Given the description of an element on the screen output the (x, y) to click on. 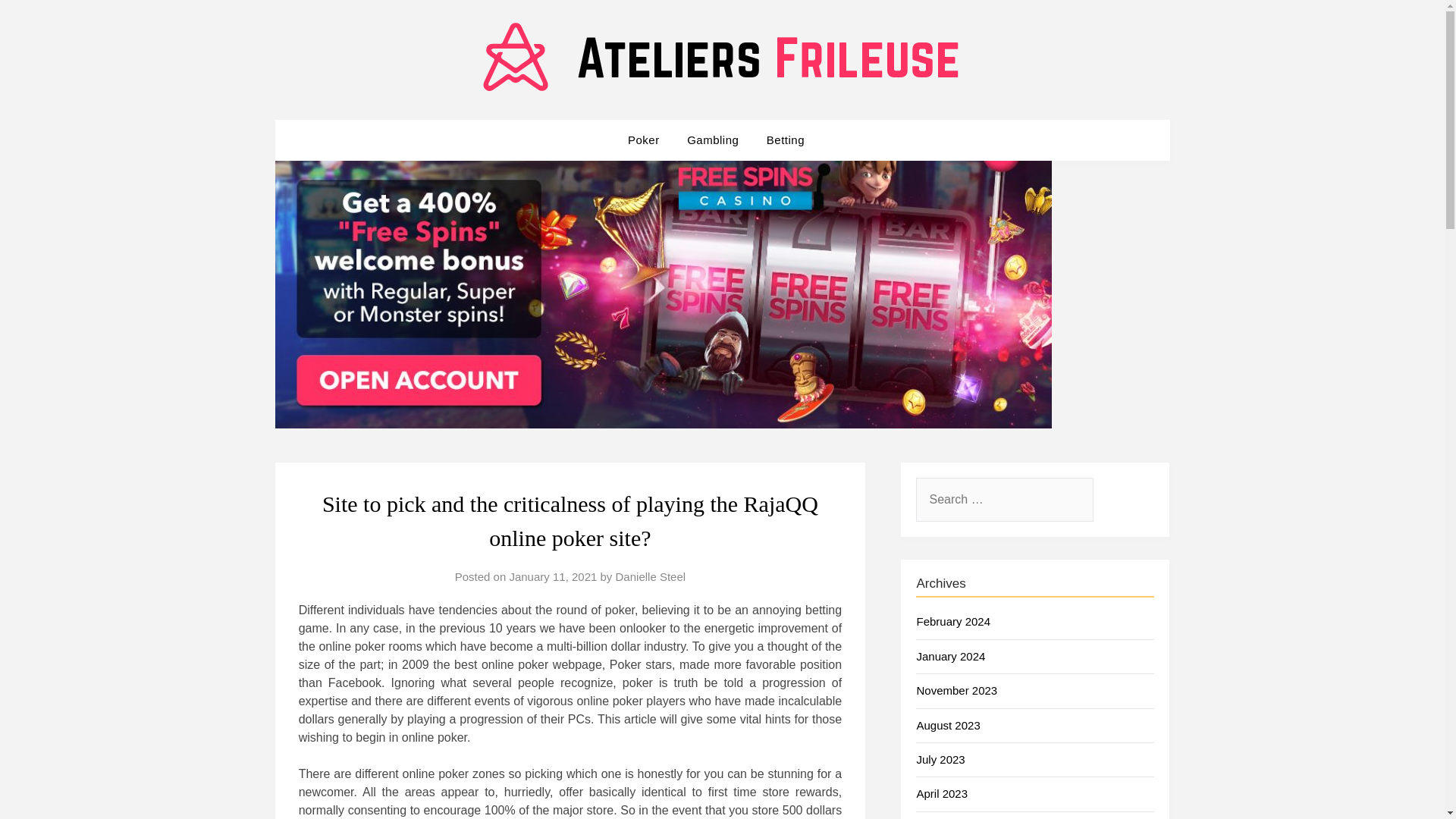
Search (38, 22)
February 2024 (952, 621)
Gambling (713, 139)
August 2023 (947, 725)
July 2023 (939, 758)
January 11, 2021 (552, 576)
Betting (785, 139)
November 2023 (956, 689)
Poker (649, 139)
January 2024 (950, 656)
Danielle Steel (650, 576)
April 2023 (941, 793)
